Given the description of an element on the screen output the (x, y) to click on. 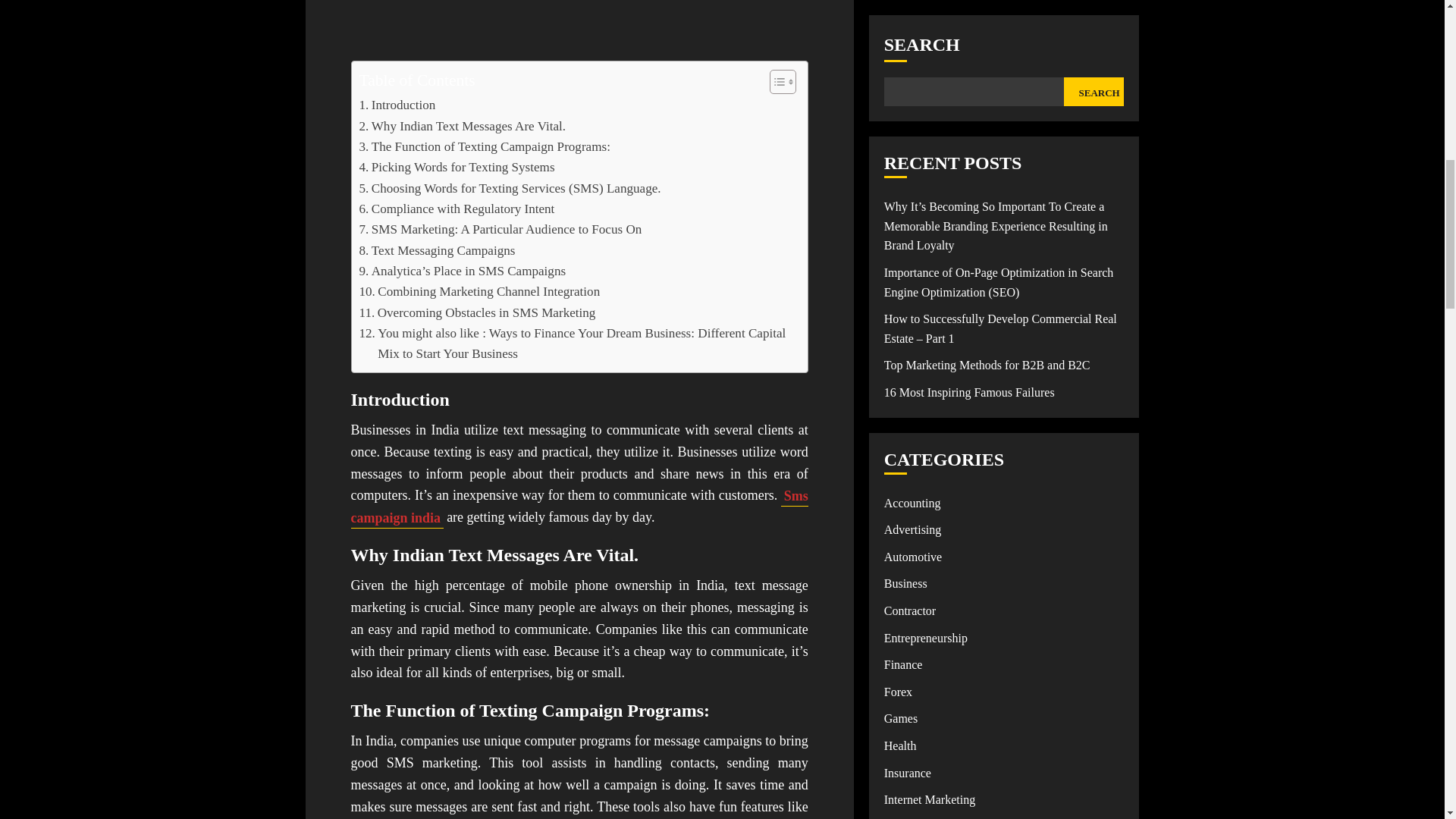
Overcoming Obstacles in SMS Marketing (477, 312)
Overcoming Obstacles in SMS Marketing (477, 312)
Picking Words for Texting Systems (456, 167)
SMS Marketing: A Particular Audience to Focus On (500, 229)
SMS Marketing: A Particular Audience to Focus On (500, 229)
Combining Marketing Channel Integration (479, 291)
Compliance with Regulatory Intent (456, 209)
Picking Words for Texting Systems (456, 167)
Combining Marketing Channel Integration (479, 291)
